Given the description of an element on the screen output the (x, y) to click on. 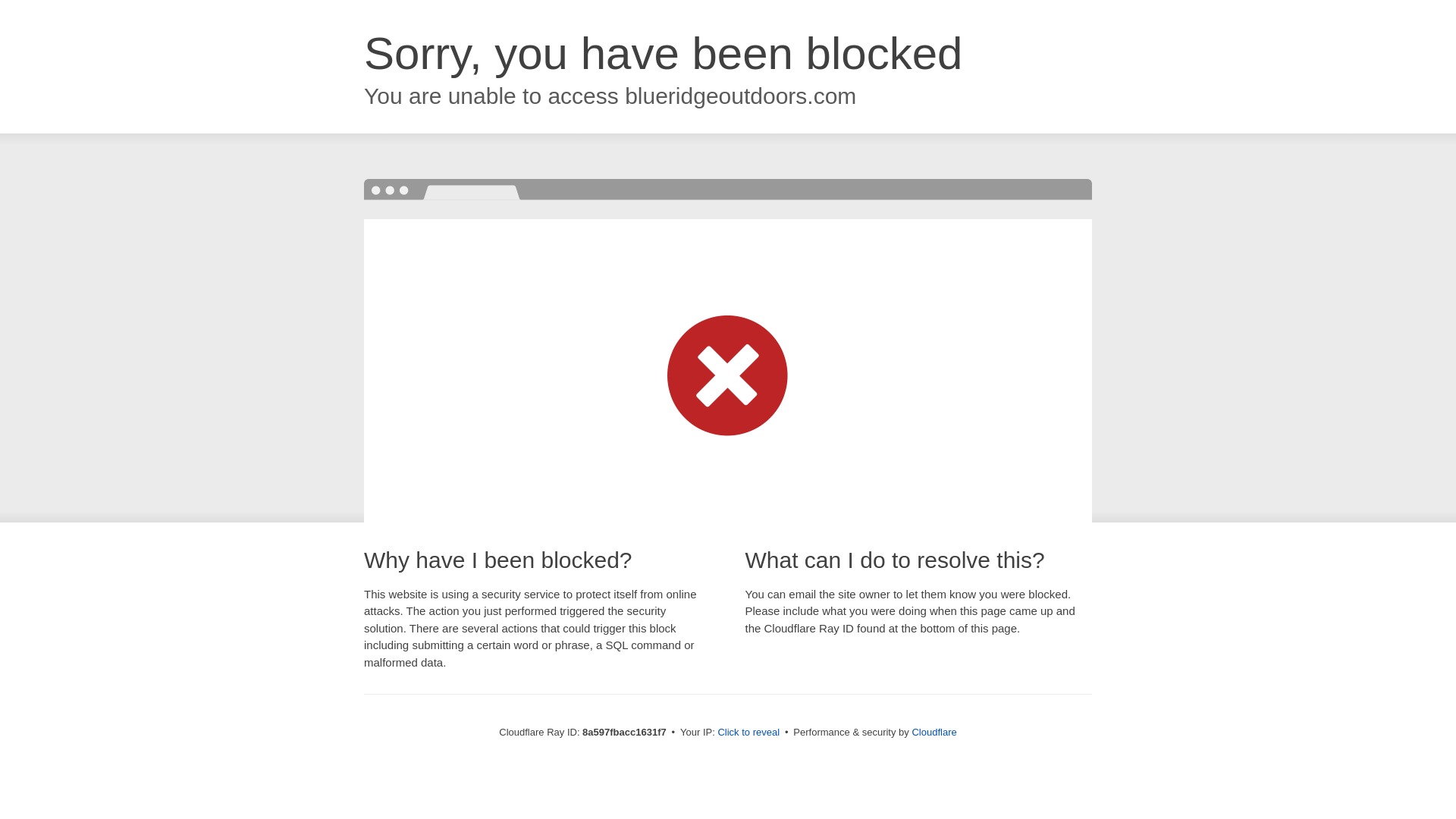
Click to reveal (747, 732)
Cloudflare (933, 731)
